Given the description of an element on the screen output the (x, y) to click on. 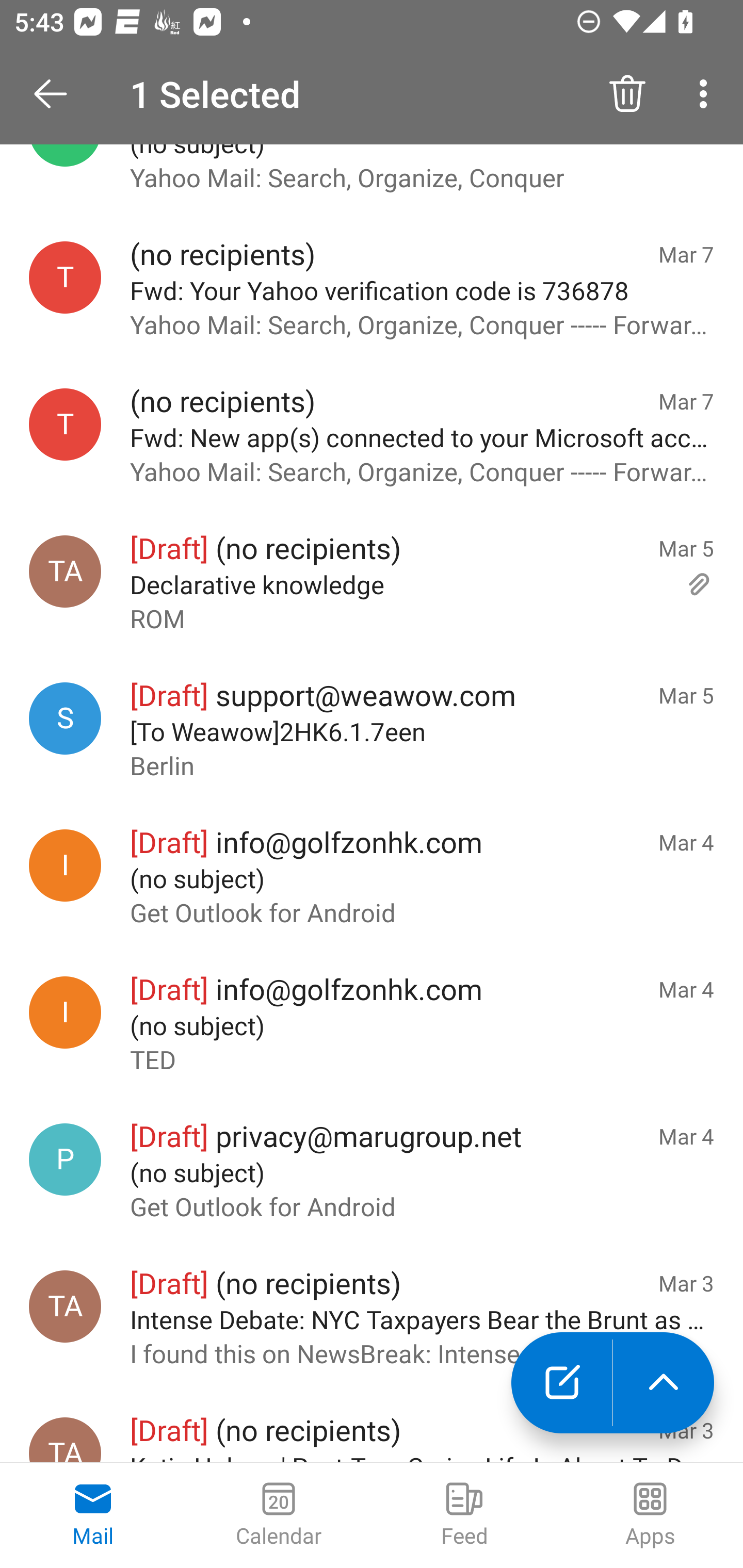
Delete (626, 93)
More options (706, 93)
Open Navigation Drawer (57, 94)
testappium002@outlook.com (64, 277)
testappium002@outlook.com (64, 424)
Test Appium, testappium002@outlook.com (64, 571)
support@weawow.com (64, 718)
info@golfzonhk.com (64, 865)
info@golfzonhk.com (64, 1012)
privacy@marugroup.net (64, 1158)
Test Appium, testappium002@outlook.com (64, 1306)
New mail (561, 1382)
launch the extended action menu (663, 1382)
Test Appium, testappium002@outlook.com (64, 1439)
Calendar (278, 1515)
Feed (464, 1515)
Apps (650, 1515)
